Given the description of an element on the screen output the (x, y) to click on. 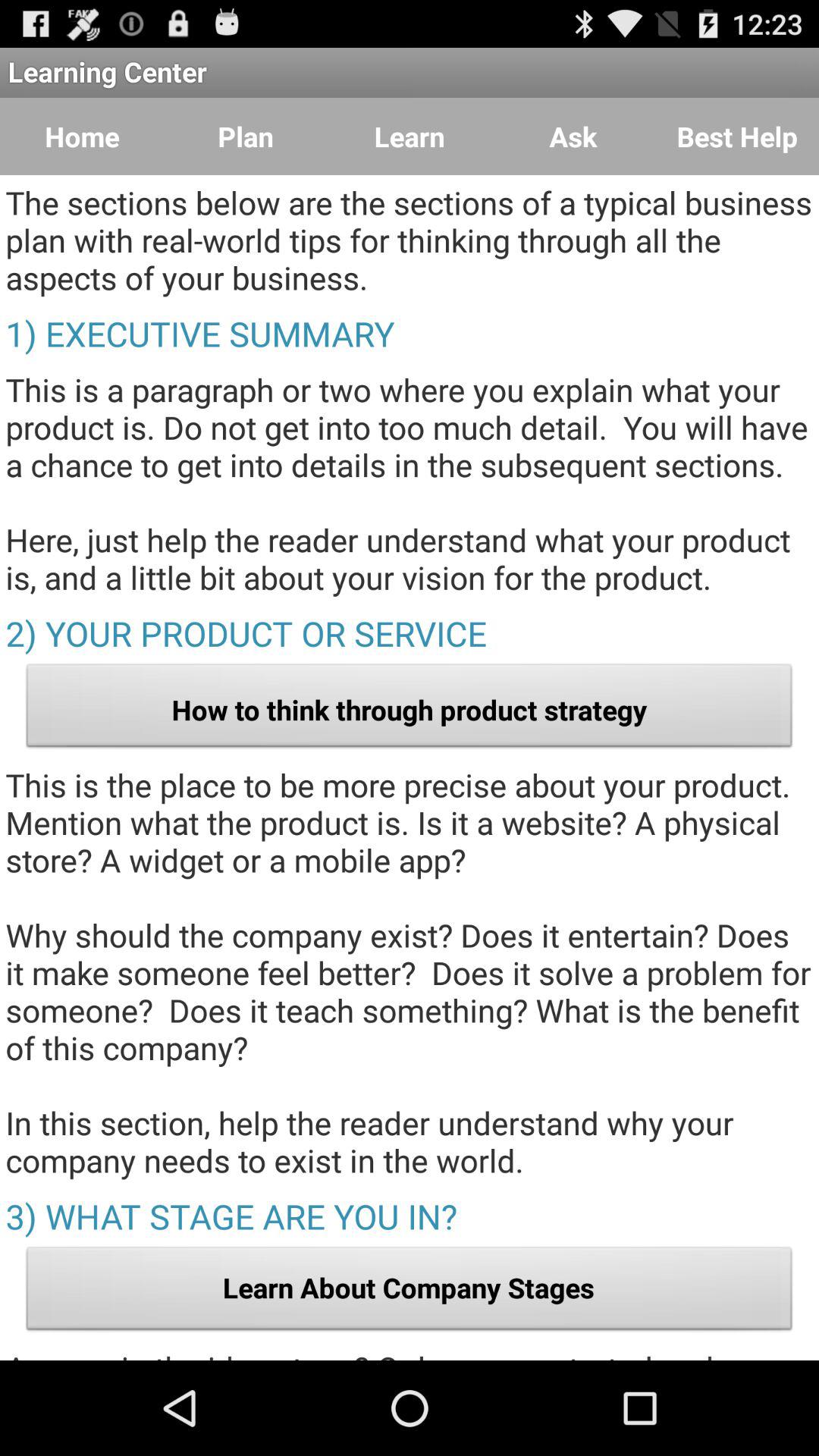
launch the icon above the sections below item (573, 136)
